Given the description of an element on the screen output the (x, y) to click on. 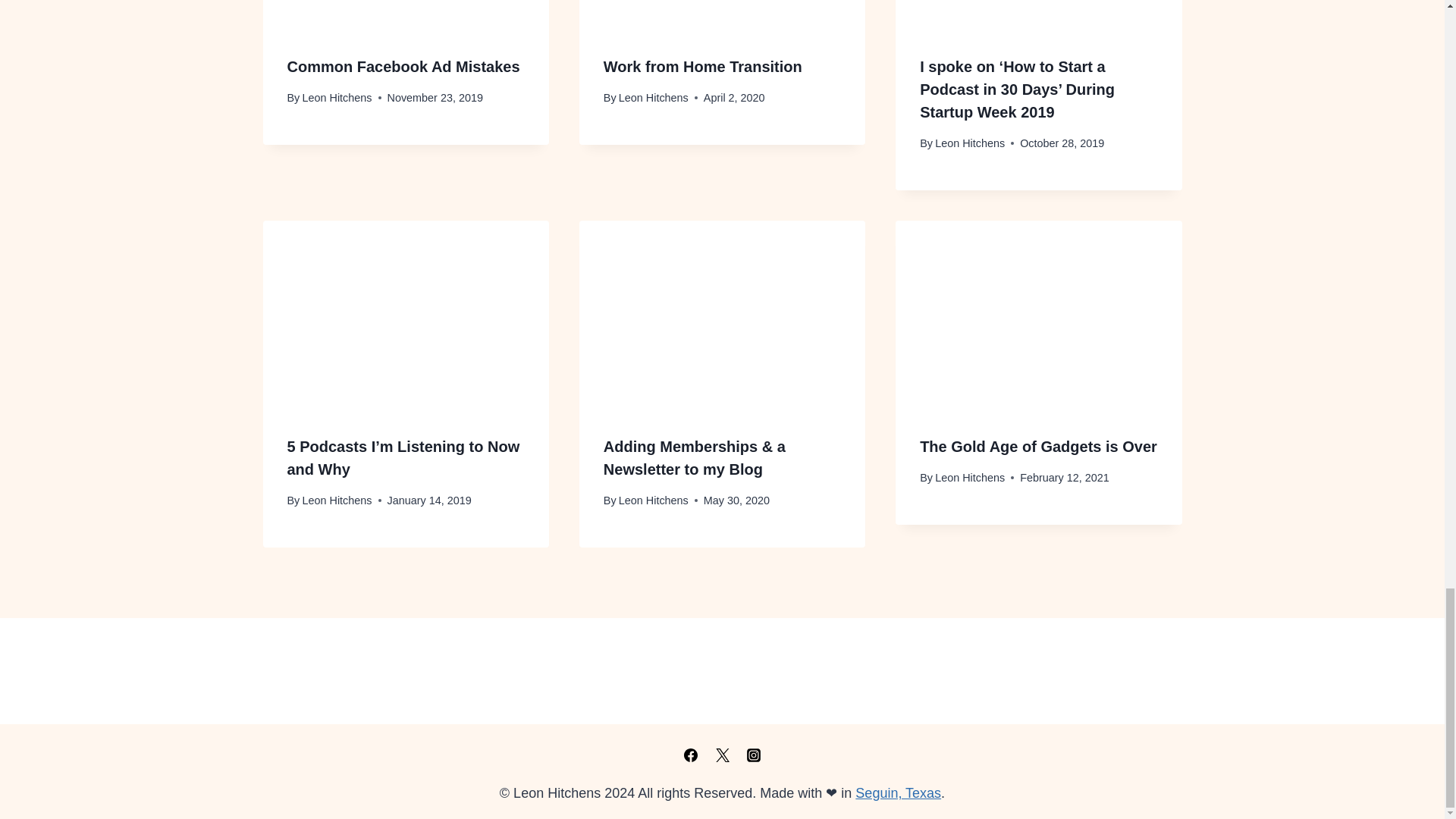
Leon Hitchens (336, 97)
Work from Home Transition (703, 66)
Leon Hitchens (653, 97)
Common Facebook Ad Mistakes (402, 66)
Leon Hitchens (969, 143)
